Given the description of an element on the screen output the (x, y) to click on. 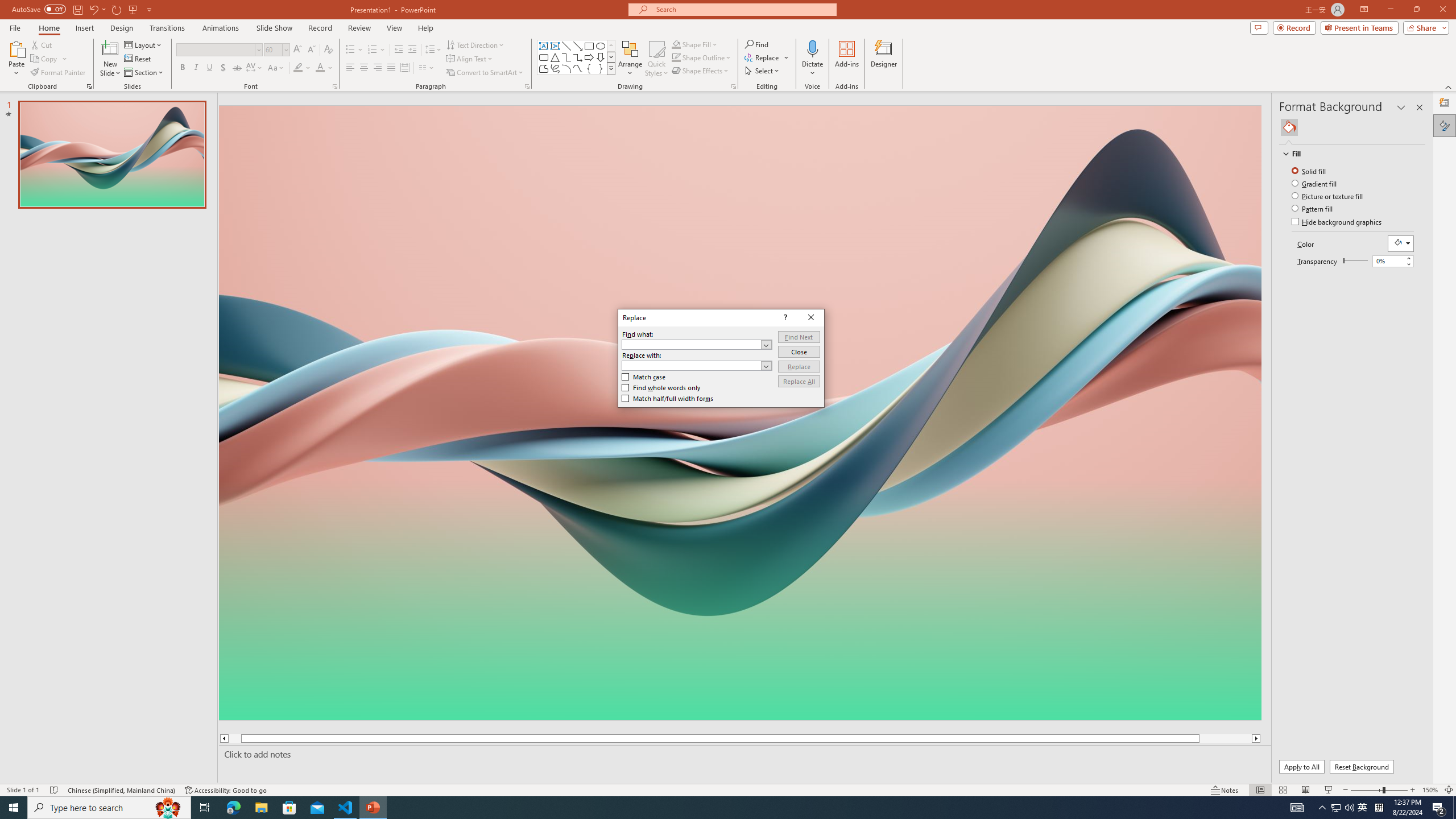
Reset Background (1361, 766)
Match case (643, 376)
